Given the description of an element on the screen output the (x, y) to click on. 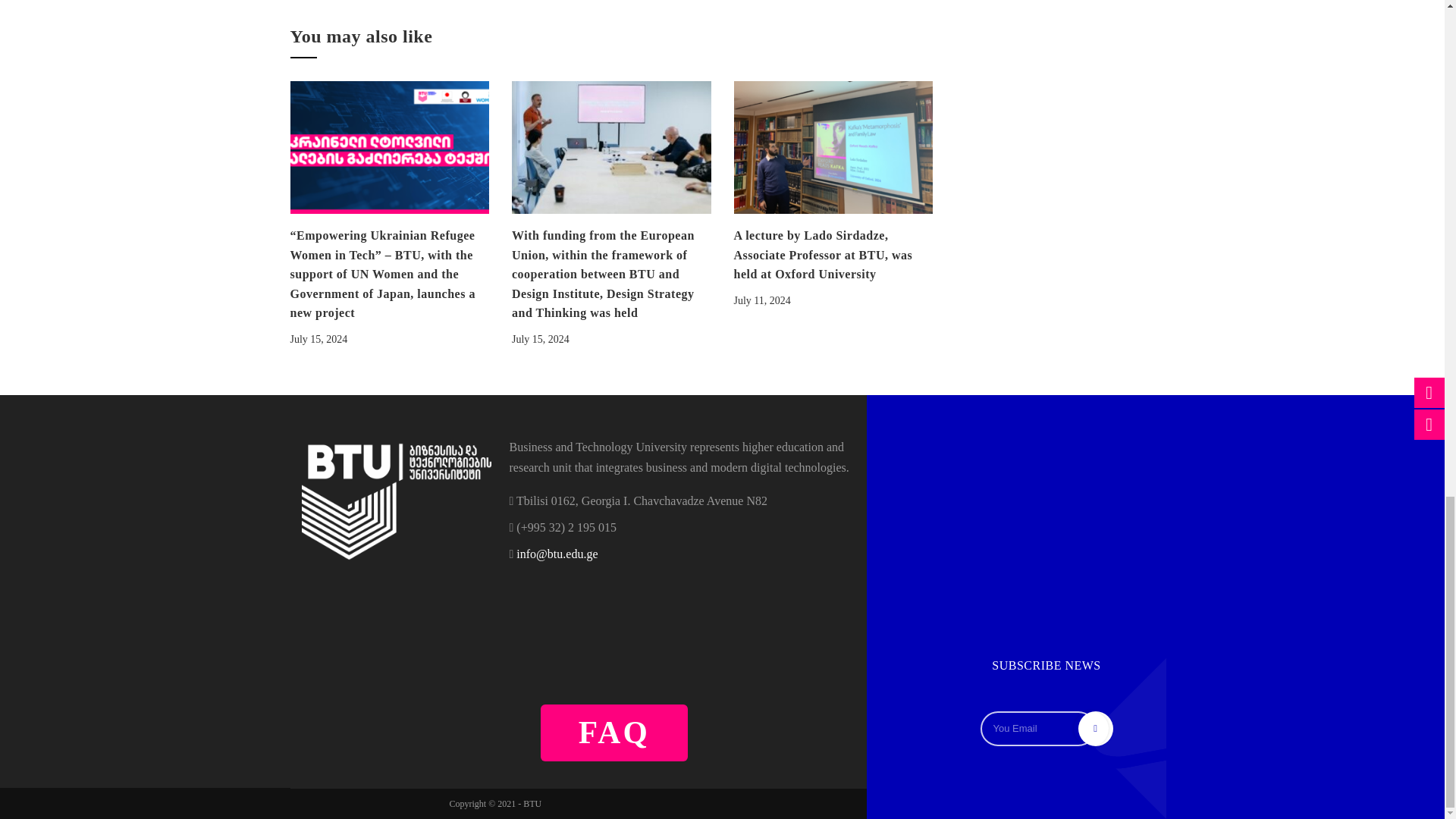
Send (1091, 728)
